Given the description of an element on the screen output the (x, y) to click on. 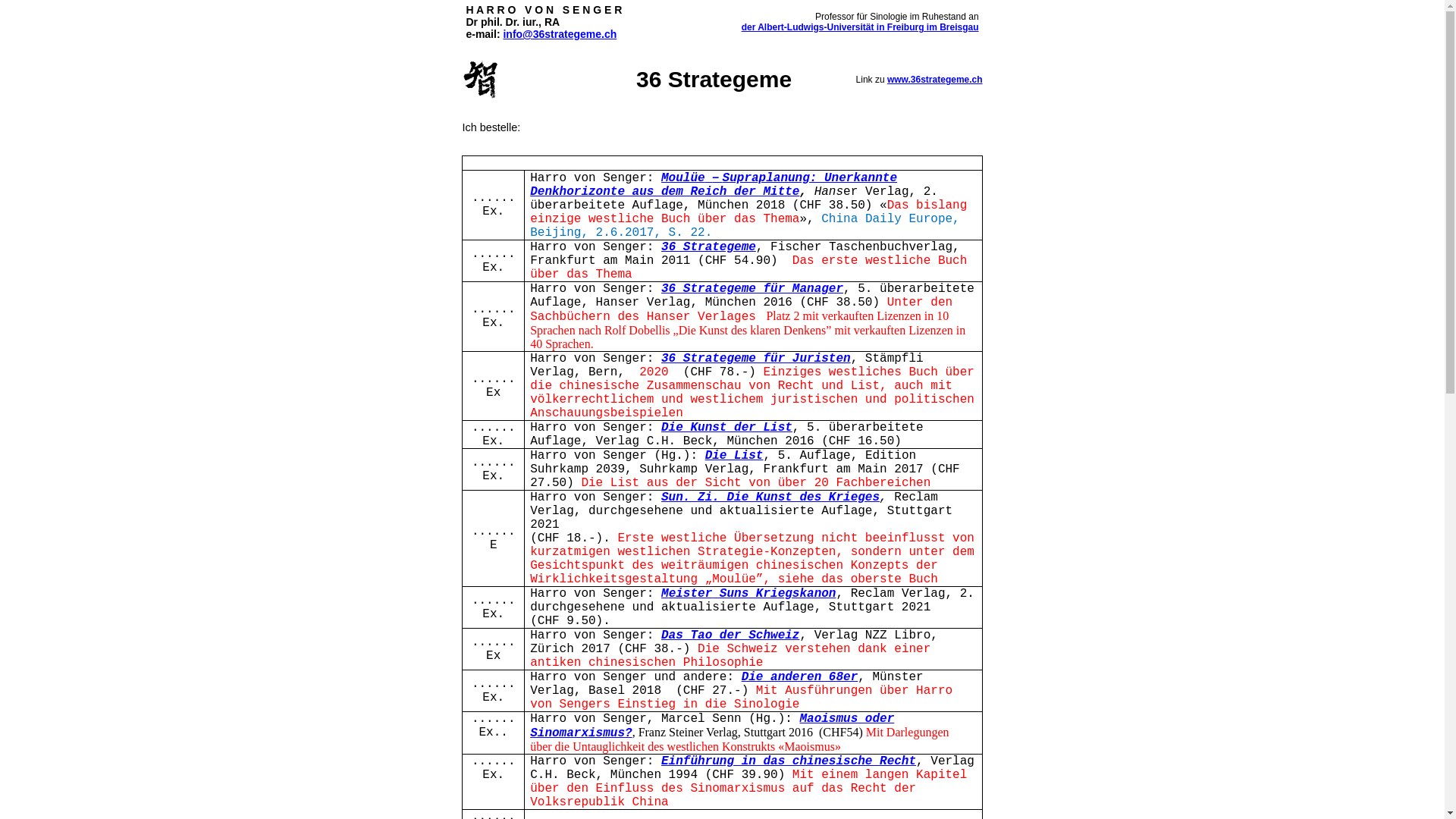
info@36strategeme.ch Element type: text (559, 34)
36 Strategeme Element type: text (708, 245)
Die Kunst der List Element type: text (726, 426)
Die List Element type: text (734, 454)
Meister Suns Kriegskanon Element type: text (748, 592)
...... Ex. Element type: text (493, 203)
Das Tao der Schweiz Element type: text (730, 633)
Sun. Zi. Die Kunst des Krieges Element type: text (770, 495)
www.36strategeme.ch Element type: text (934, 79)
Maoismus oder Sinomarxismus? Element type: text (712, 724)
Die anderen 68er Element type: text (799, 675)
